Given the description of an element on the screen output the (x, y) to click on. 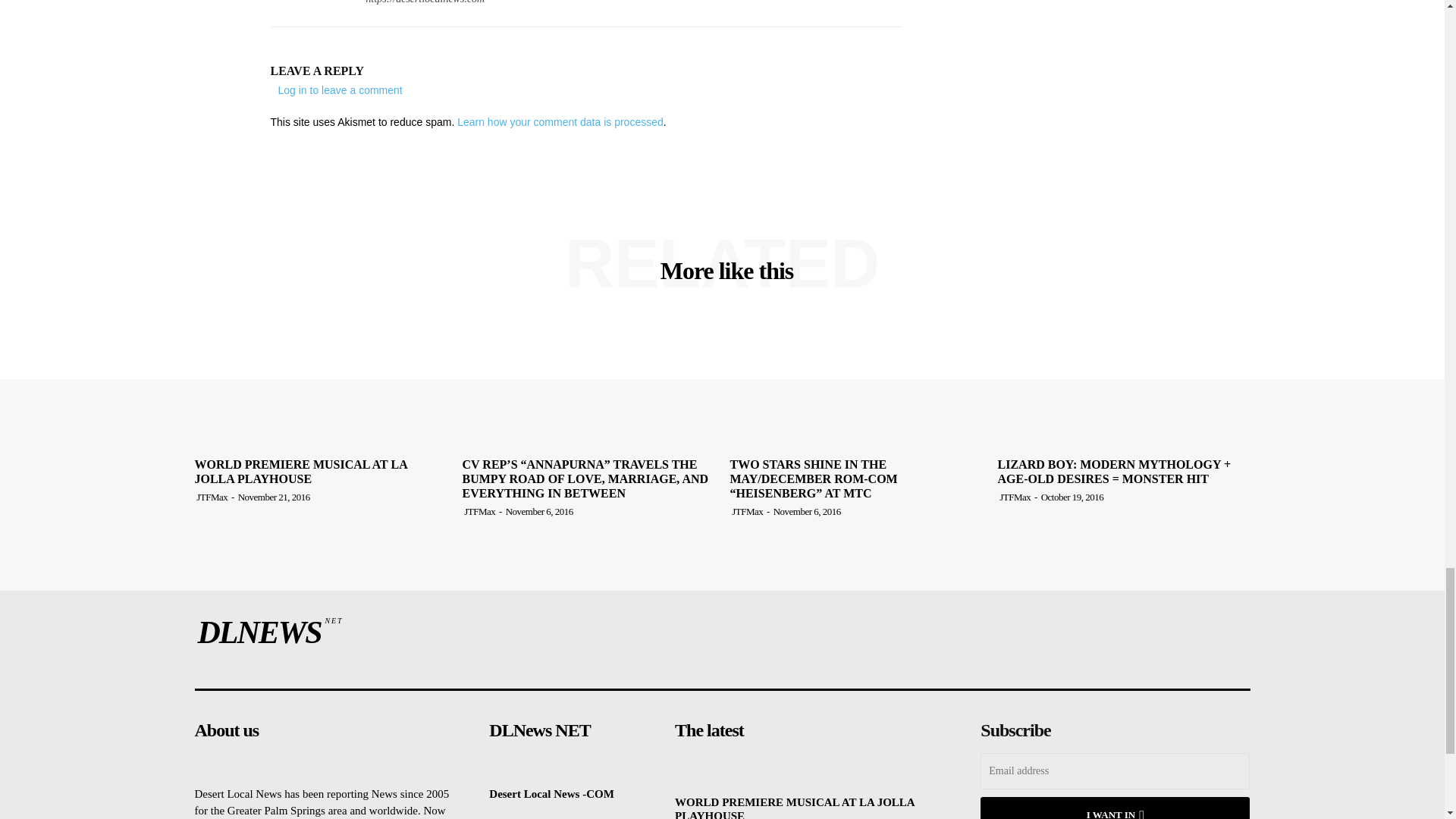
Log in to leave a comment (339, 90)
Learn how your comment data is processed (560, 121)
Mr.Max (305, 6)
